Given the description of an element on the screen output the (x, y) to click on. 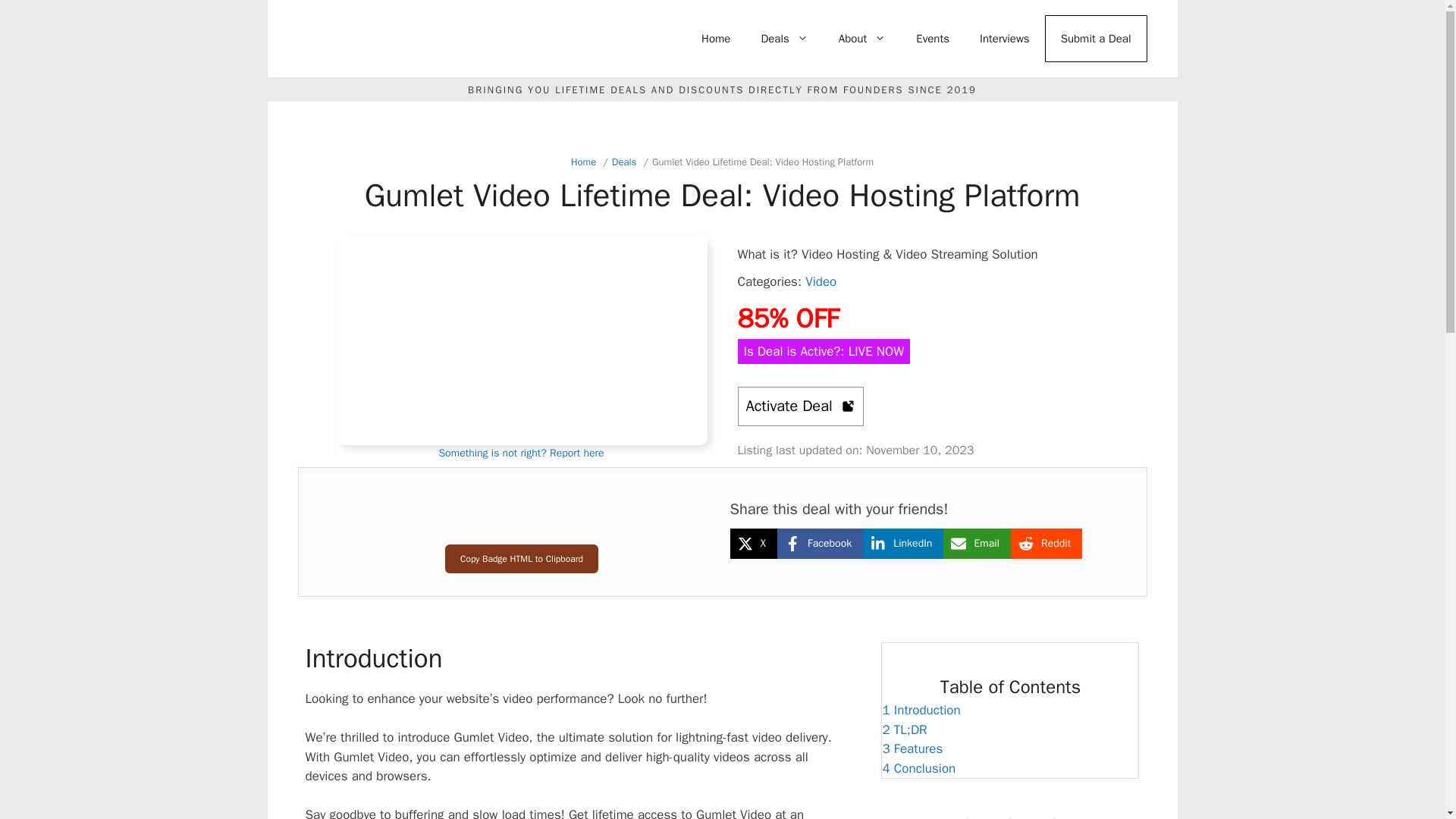
saaspirate-badge (520, 521)
Home (715, 38)
Deals (783, 38)
About (862, 38)
